Given the description of an element on the screen output the (x, y) to click on. 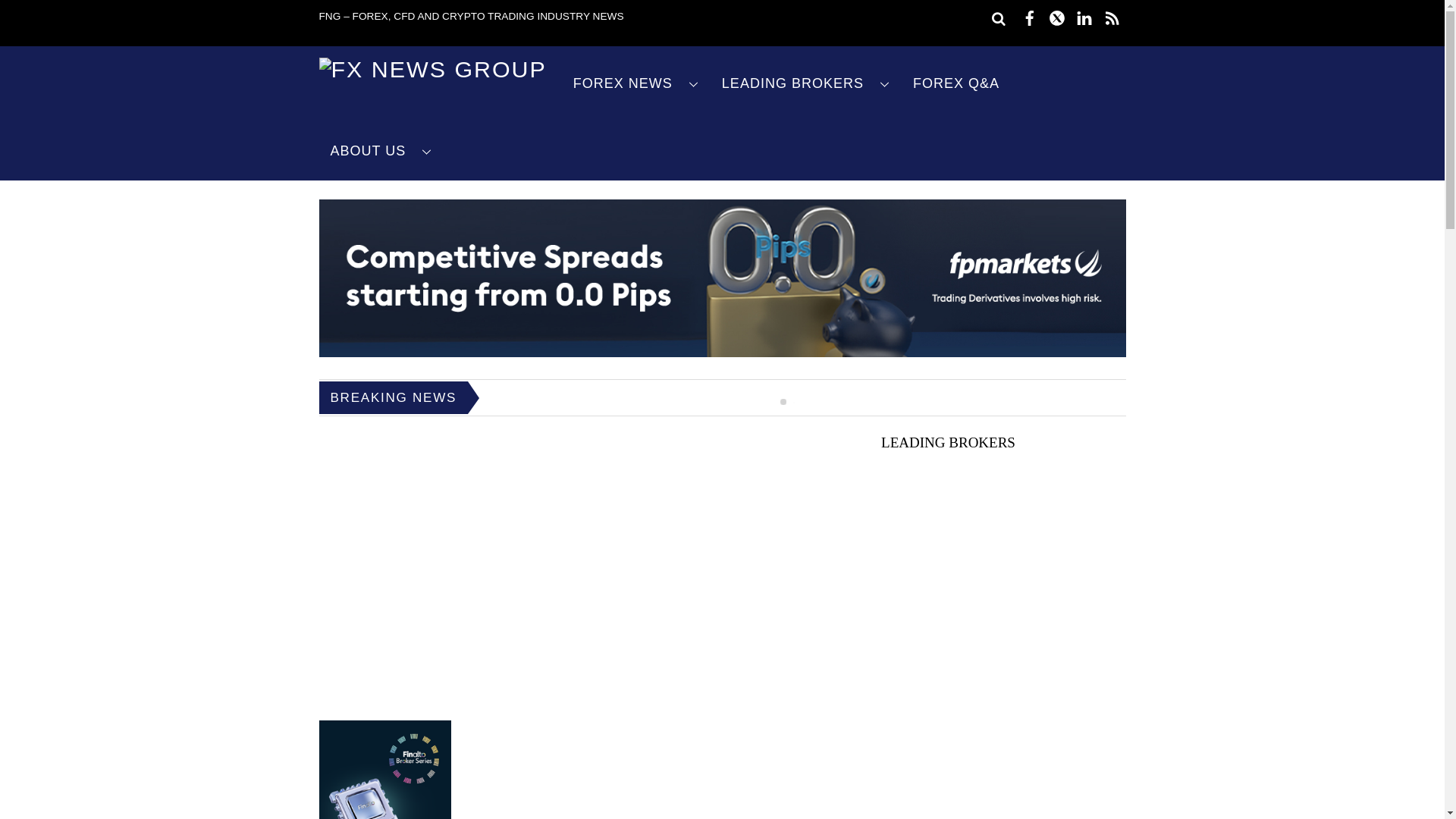
FX News Group (432, 68)
FOREX NEWS (636, 83)
LEADING BROKERS (805, 83)
